Given the description of an element on the screen output the (x, y) to click on. 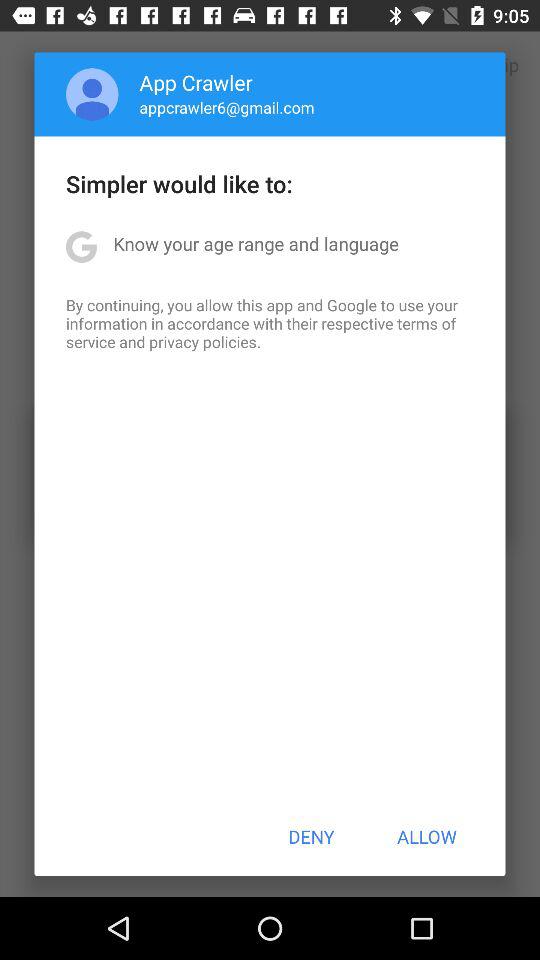
select the app above simpler would like item (226, 107)
